Given the description of an element on the screen output the (x, y) to click on. 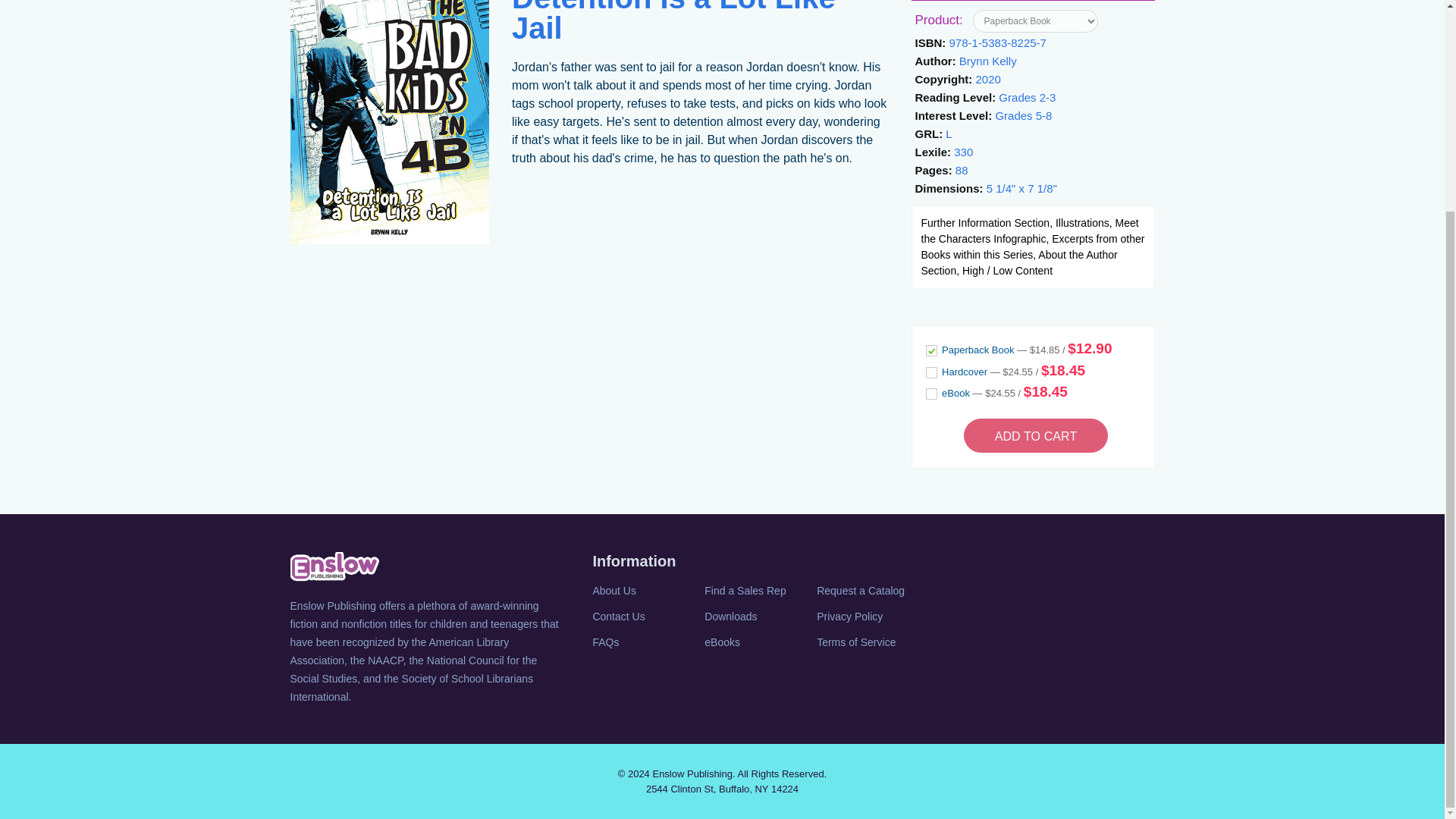
Privacy Policy (871, 616)
Terms of Service (871, 642)
Contact Us (646, 616)
Request a Catalog (871, 590)
Find a Sales Rep (758, 590)
eBooks (758, 642)
Downloads (758, 616)
Add to cart (1035, 434)
Add to cart (1035, 434)
About Us (646, 590)
